Given the description of an element on the screen output the (x, y) to click on. 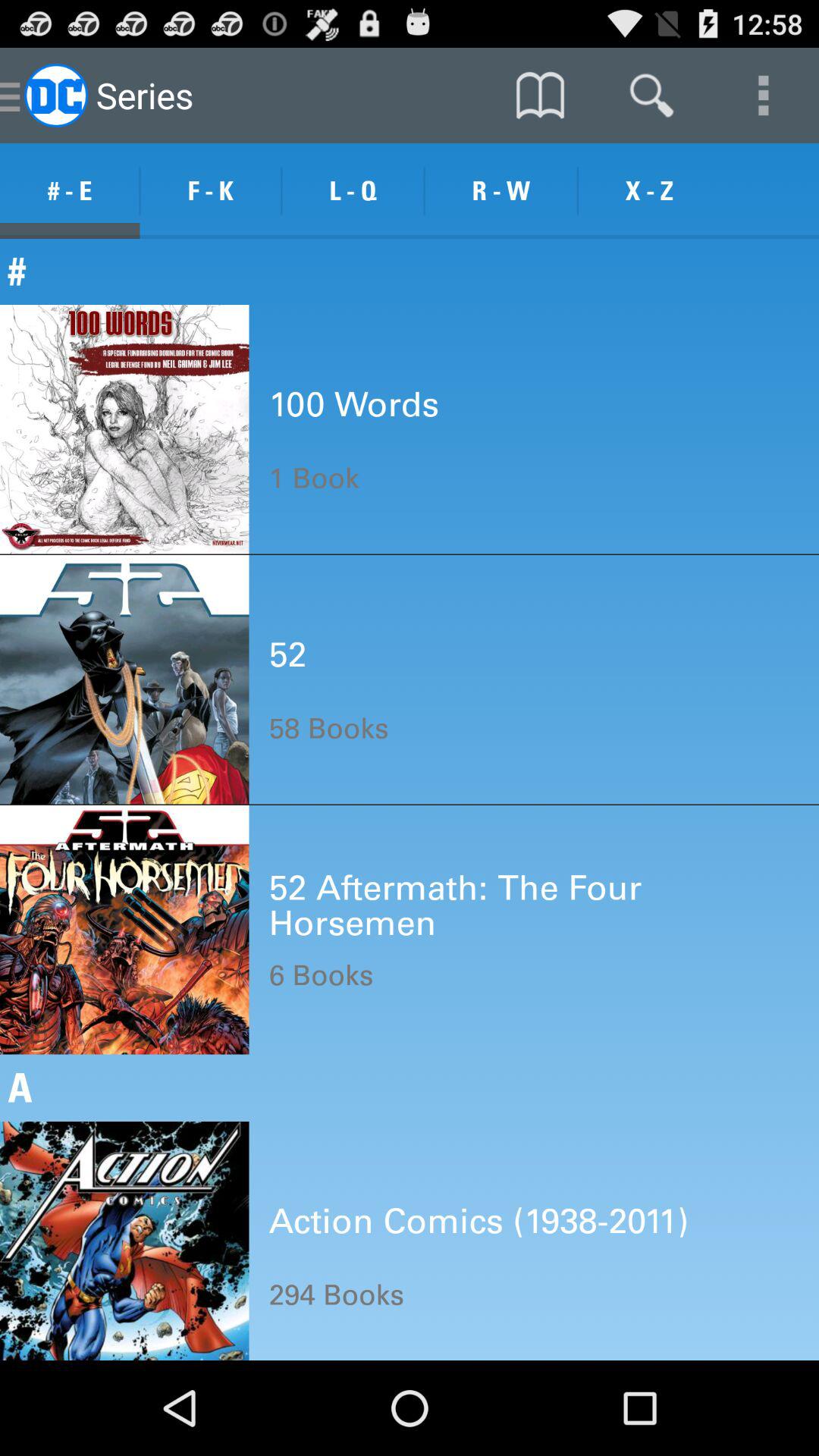
flip to the # icon (409, 270)
